Given the description of an element on the screen output the (x, y) to click on. 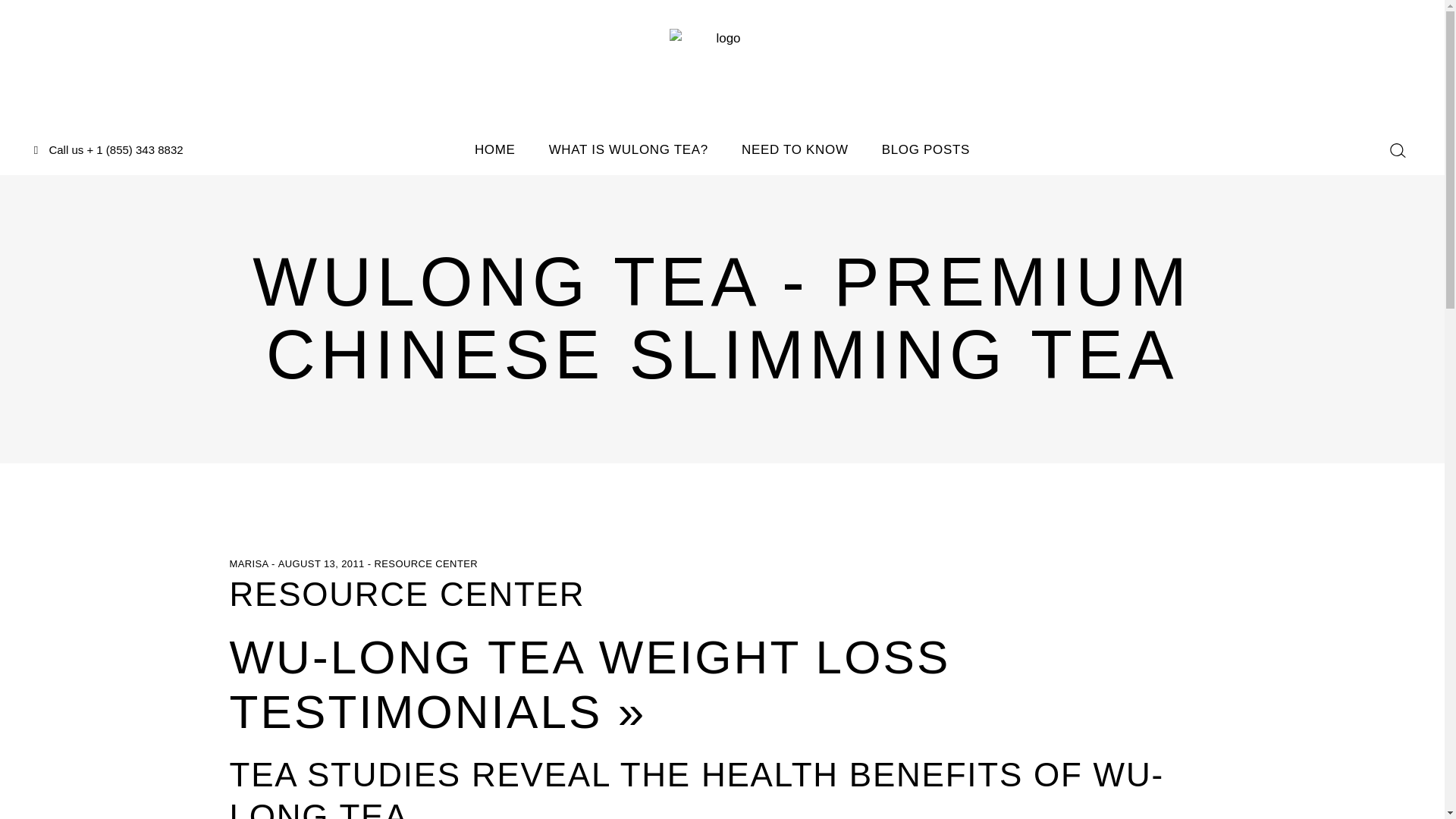
WHAT IS WULONG TEA? (628, 149)
MARISA (249, 563)
NEED TO KNOW (794, 149)
HOME (495, 149)
BLOG POSTS (925, 149)
RESOURCE CENTER (425, 563)
AUGUST 13, 2011 (323, 563)
